Given the description of an element on the screen output the (x, y) to click on. 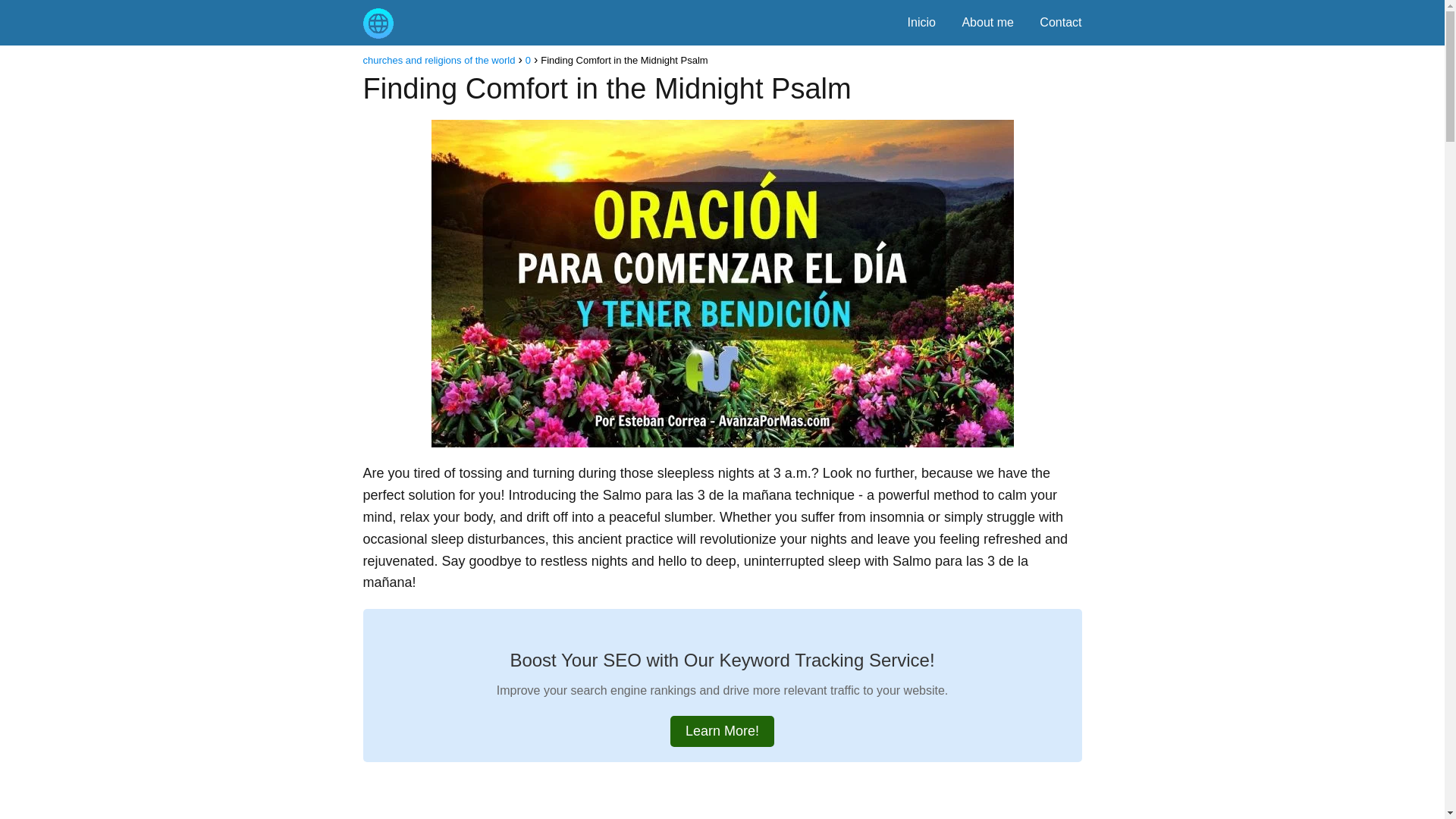
churches and religions of the world (438, 60)
About me (986, 21)
Inicio (921, 21)
Learn More! (721, 730)
Contact (1060, 21)
